Given the description of an element on the screen output the (x, y) to click on. 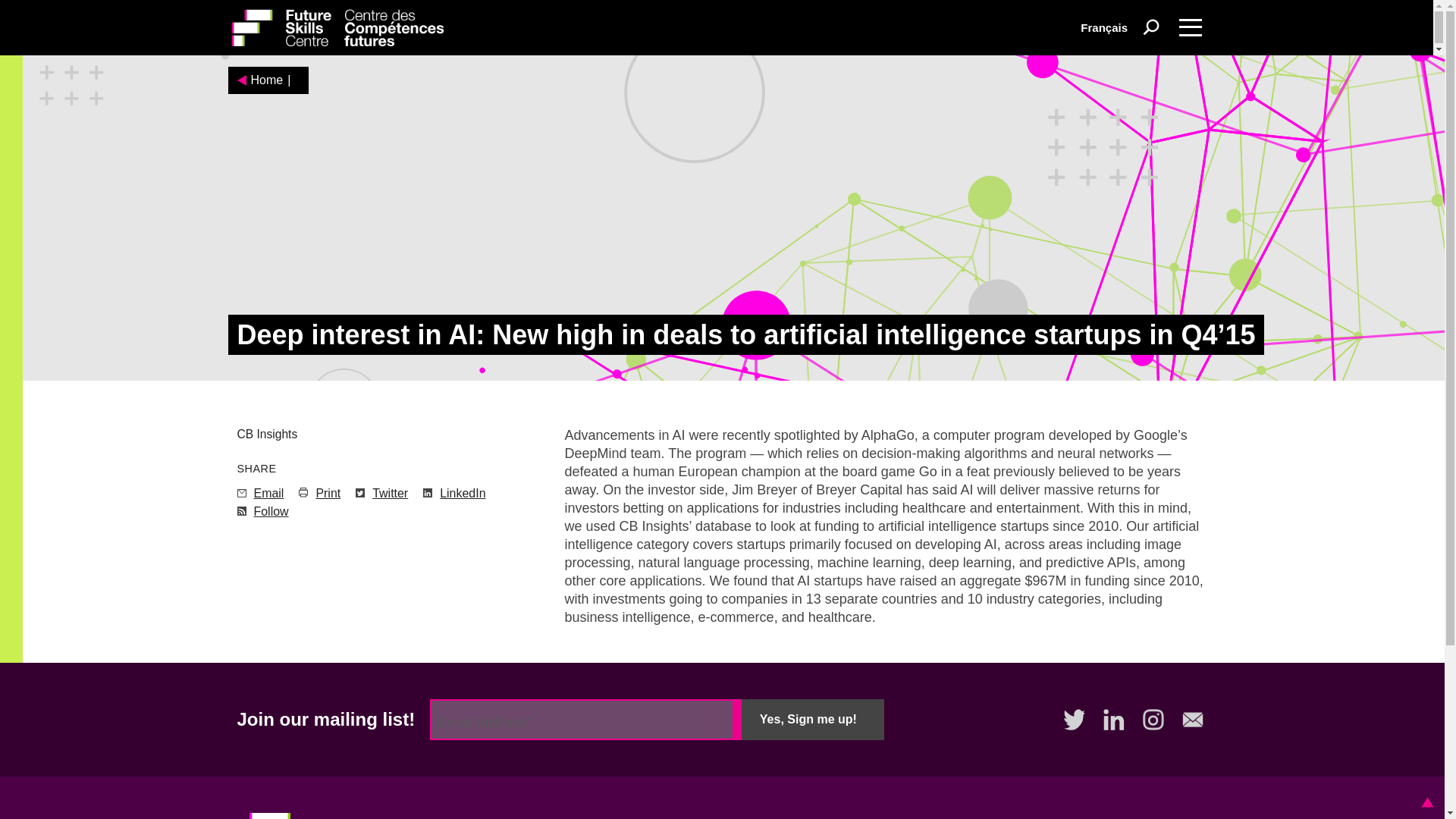
Search Created with Sketch. (1150, 27)
